Given the description of an element on the screen output the (x, y) to click on. 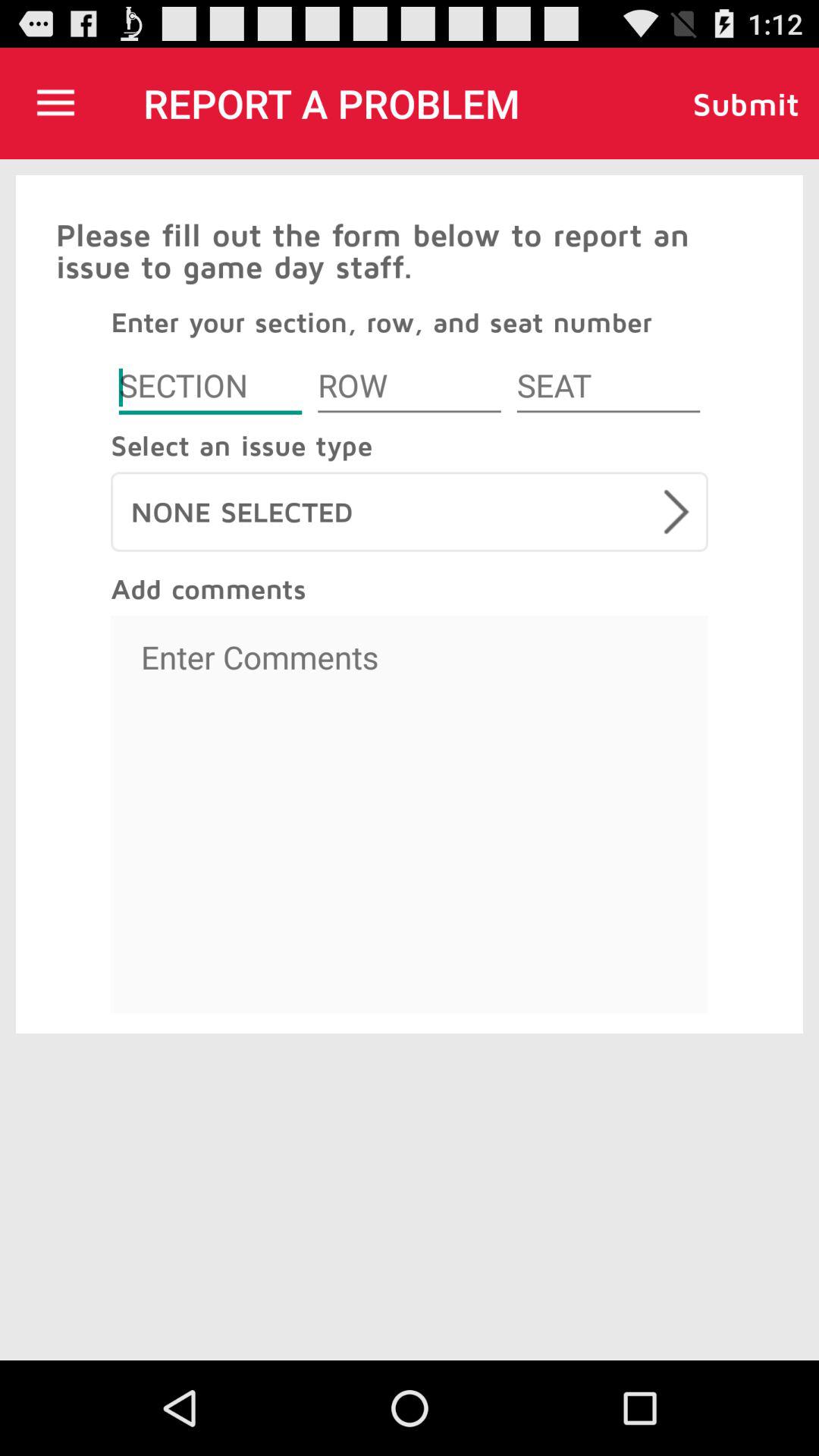
comments field (409, 814)
